Given the description of an element on the screen output the (x, y) to click on. 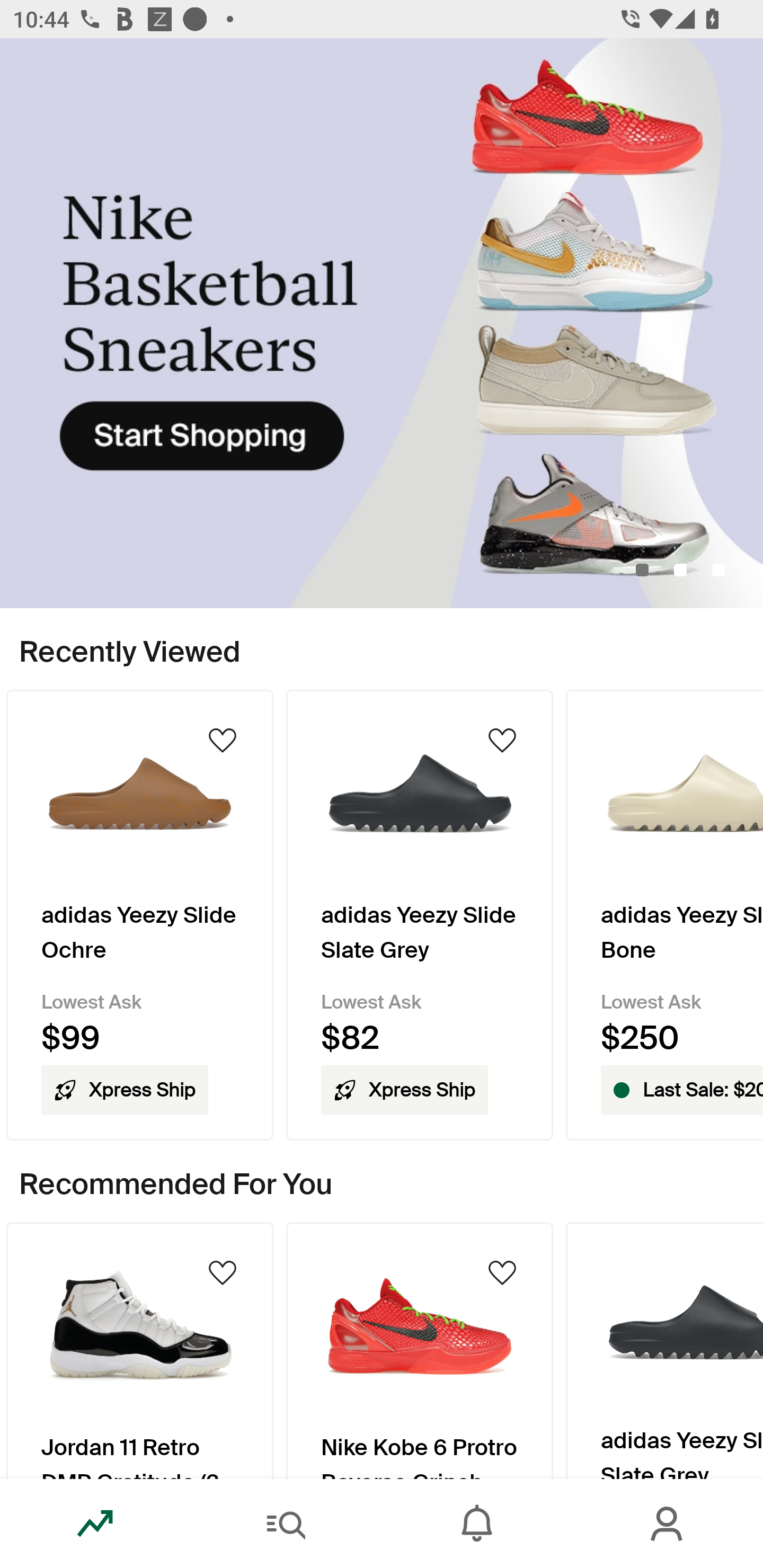
NikeBasketballSprint_Followup_Primary_Mobile.jpg (381, 322)
Product Image Jordan 11 Retro DMP Gratitude (2023) (139, 1349)
Product Image Nike Kobe 6 Protro Reverse Grinch (419, 1349)
Product Image adidas Yeezy Slide Slate Grey (664, 1349)
Search (285, 1523)
Inbox (476, 1523)
Account (667, 1523)
